Given the description of an element on the screen output the (x, y) to click on. 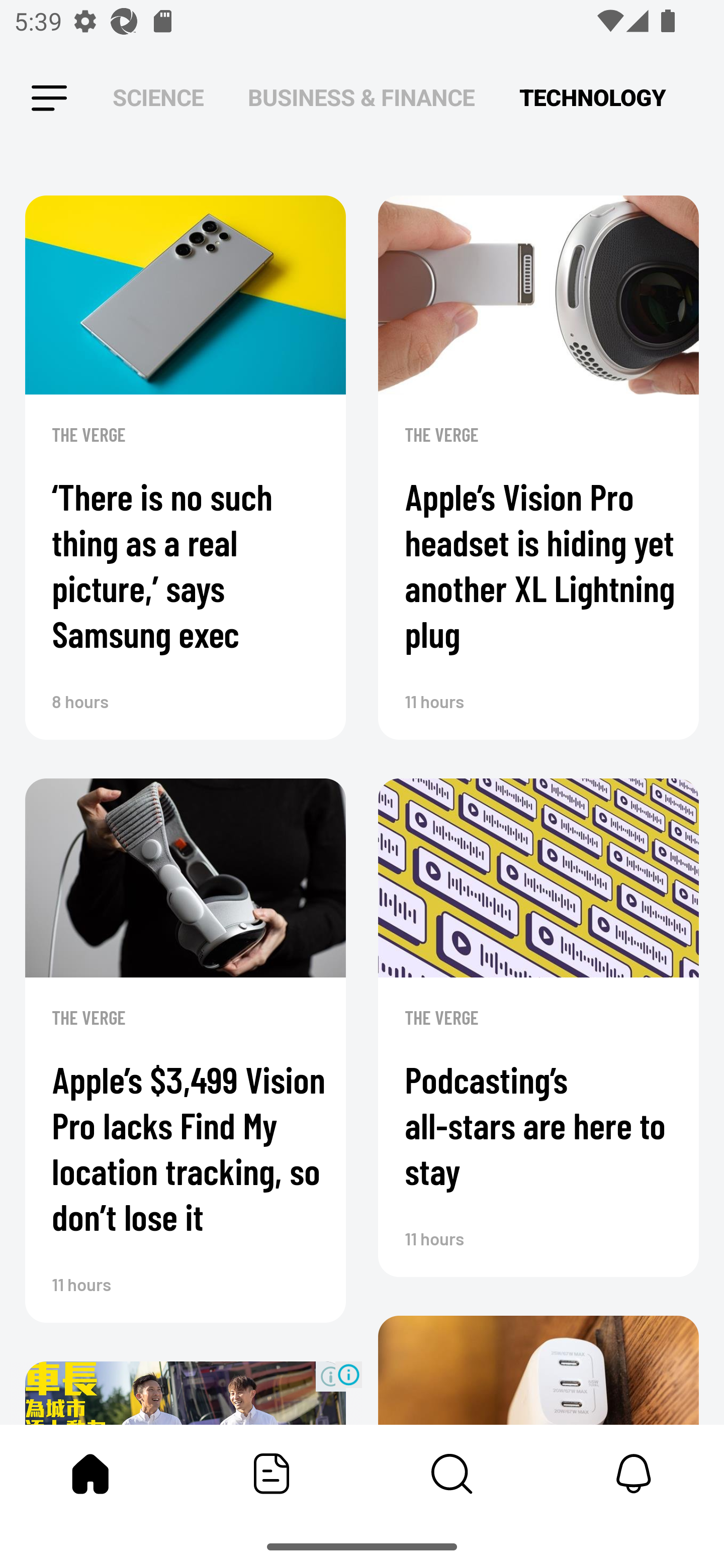
Leading Icon (49, 98)
SCIENCE (157, 97)
BUSINESS & FINANCE (360, 97)
Ad Choices Icon (348, 1374)
Featured (271, 1473)
Content Store (452, 1473)
Notifications (633, 1473)
